Given the description of an element on the screen output the (x, y) to click on. 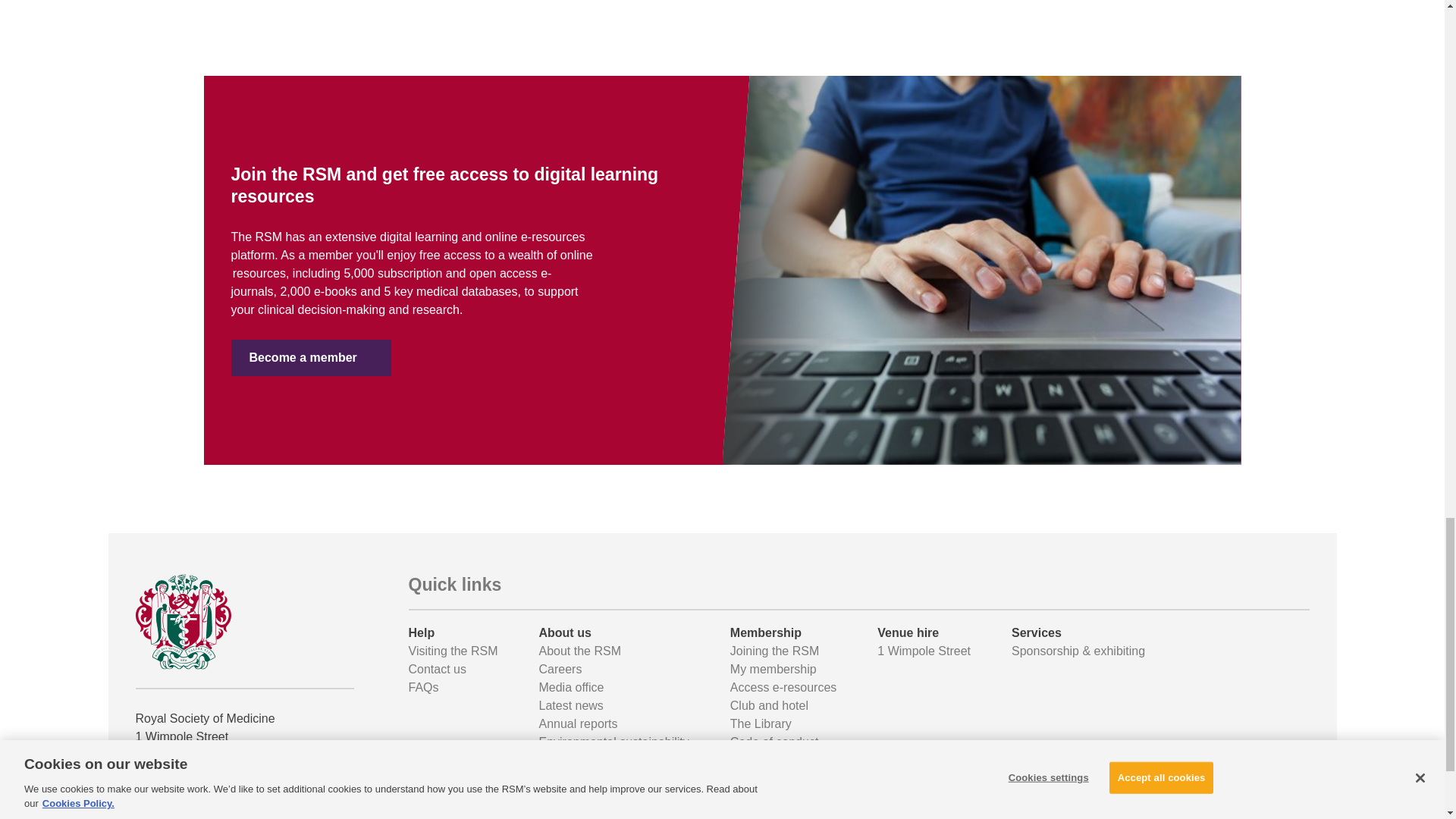
Become a member (310, 357)
Contact us (436, 668)
About the RSM (579, 650)
Careers (559, 668)
Visiting the RSM (452, 650)
FAQs (422, 686)
